Given the description of an element on the screen output the (x, y) to click on. 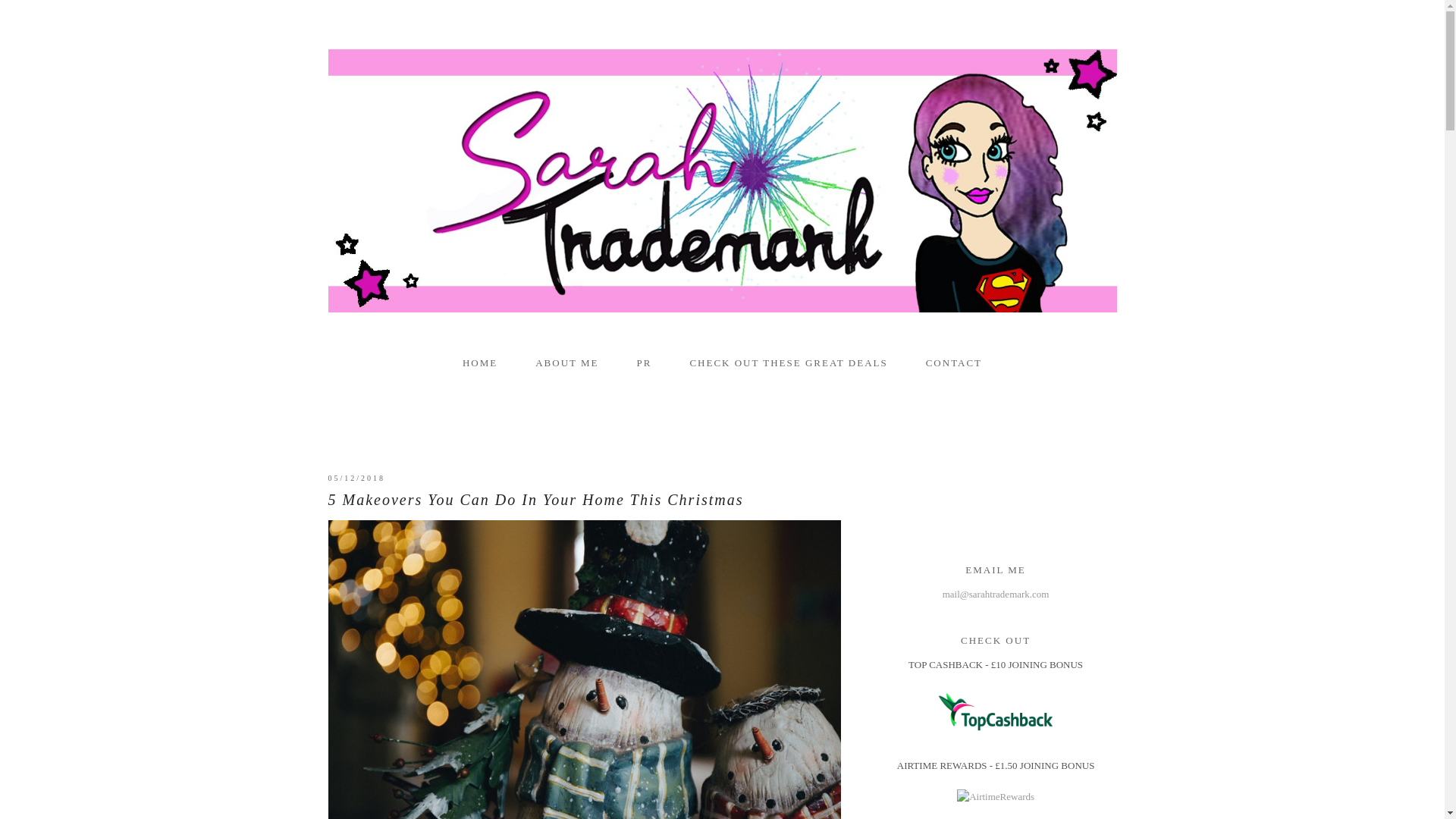
HOME (480, 362)
CONTACT (954, 362)
ABOUT ME (566, 362)
CHECK OUT THESE GREAT DEALS (787, 362)
PR (643, 362)
